Given the description of an element on the screen output the (x, y) to click on. 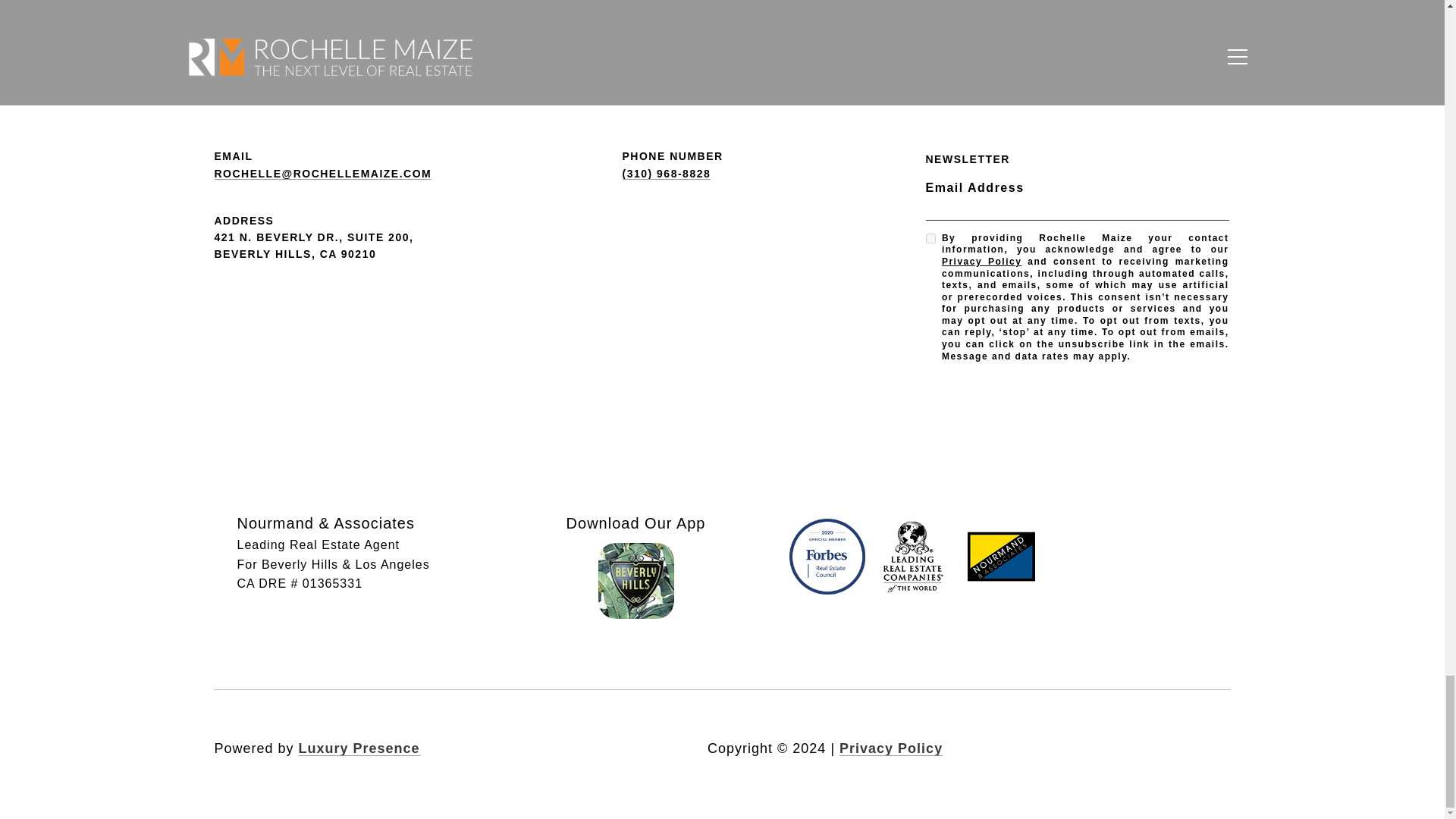
on (929, 238)
